Given the description of an element on the screen output the (x, y) to click on. 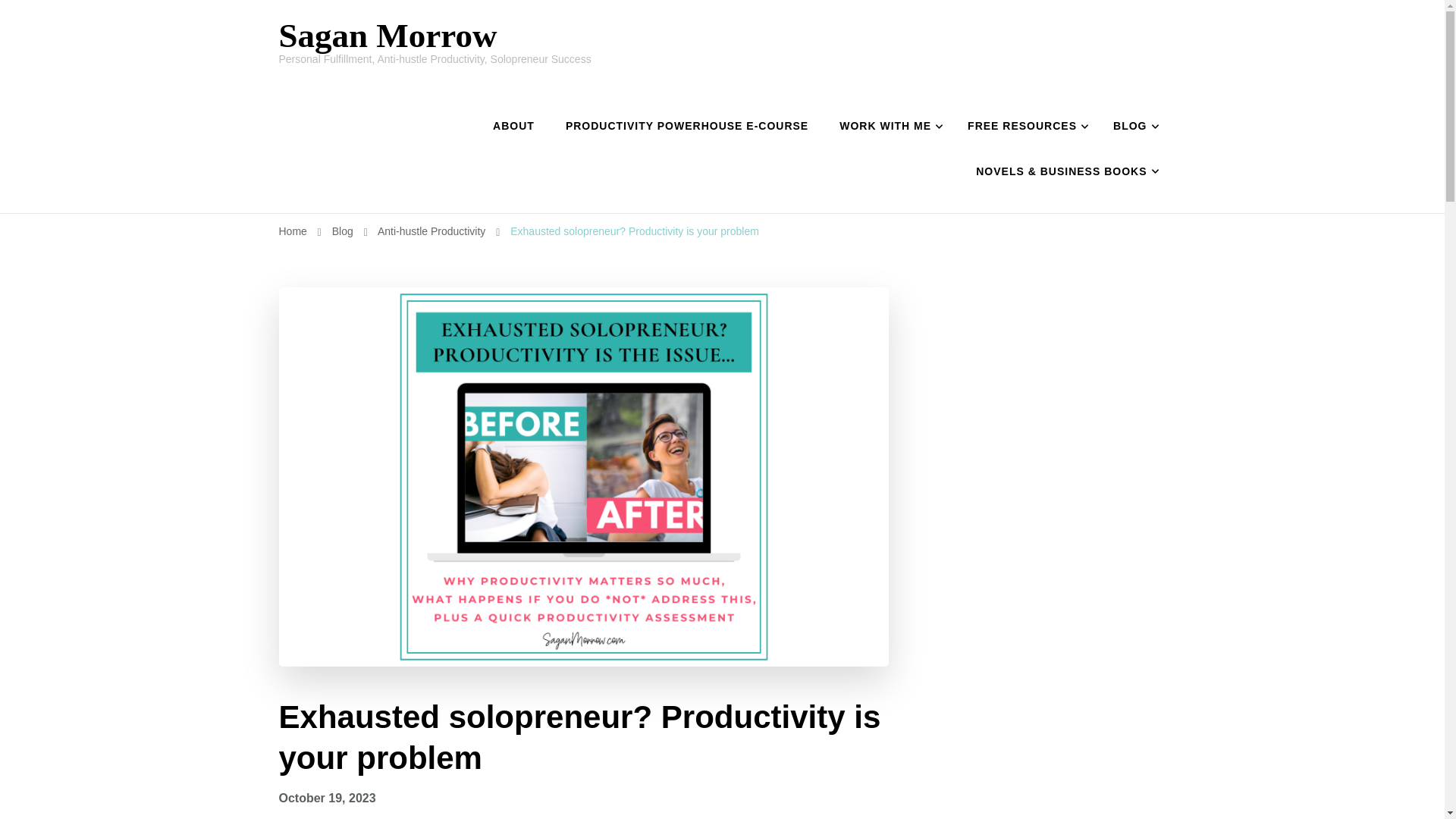
Blog (343, 231)
October 19, 2023 (327, 797)
FREE RESOURCES (1024, 126)
WORK WITH ME (887, 126)
Sagan Morrow (388, 35)
ABOUT (513, 126)
Home (293, 231)
Anti-hustle Productivity (432, 231)
BLOG (1132, 126)
Exhausted solopreneur? Productivity is your problem (634, 231)
PRODUCTIVITY POWERHOUSE E-COURSE (686, 126)
